Given the description of an element on the screen output the (x, y) to click on. 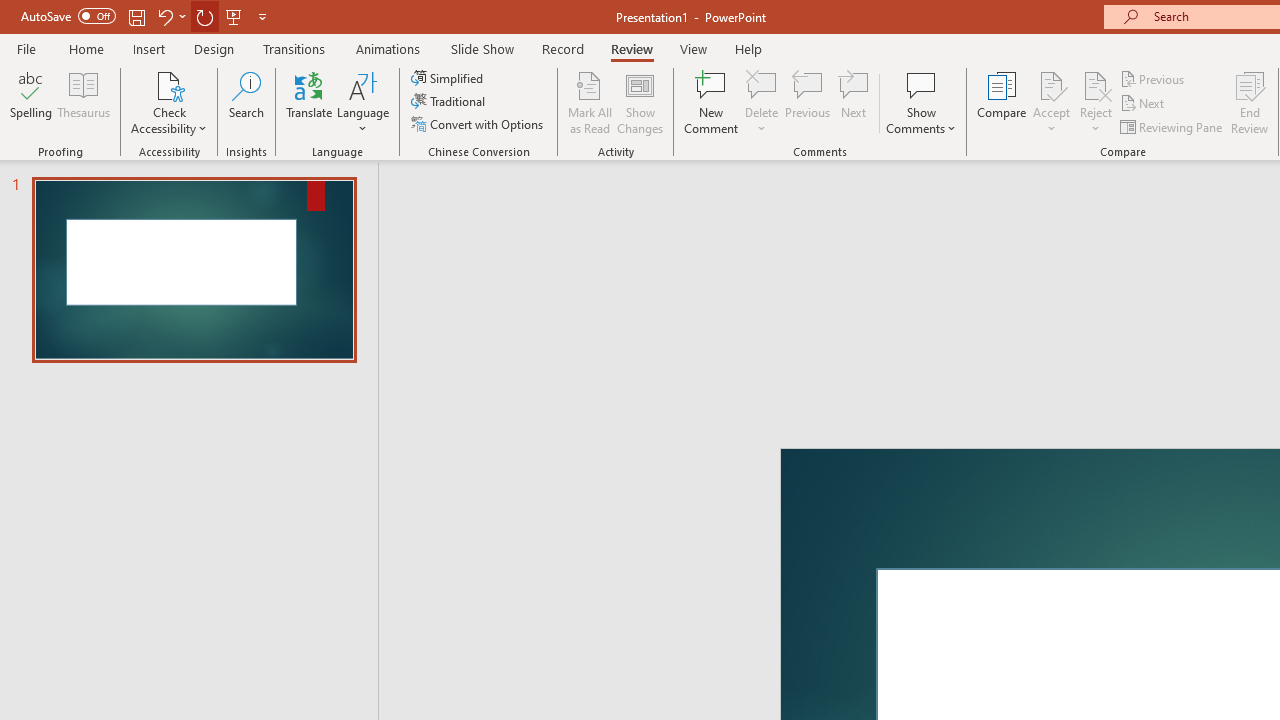
Traditional (449, 101)
Show Changes (639, 102)
